Given the description of an element on the screen output the (x, y) to click on. 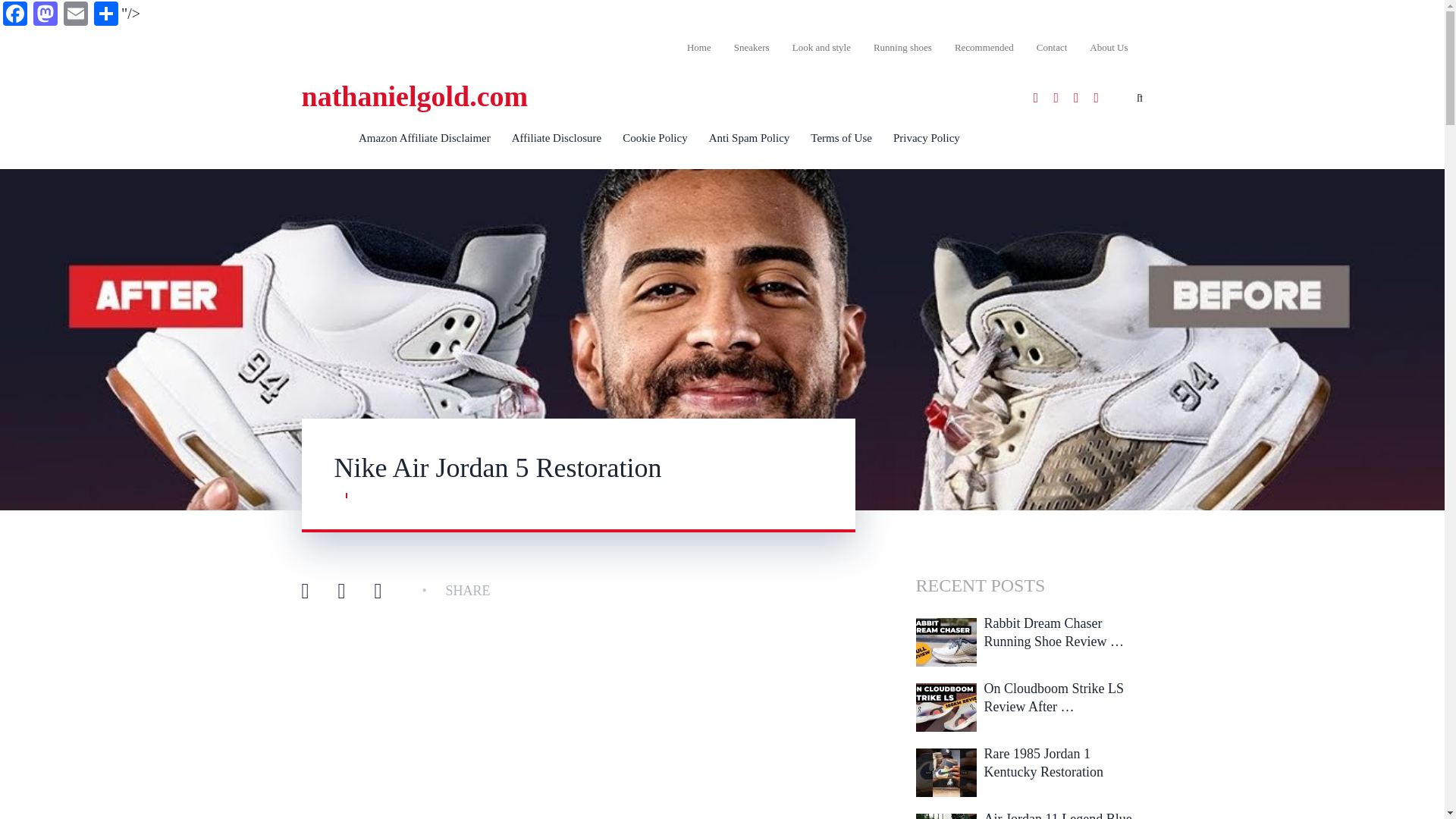
Look and style (820, 46)
Mastodon (45, 15)
Running shoes (902, 46)
Cookie Policy (654, 137)
Recommended (984, 46)
YouTube video player (578, 729)
nathanielgold.com (414, 95)
Sneakers (751, 46)
Email (75, 15)
Contact (1051, 46)
